Given the description of an element on the screen output the (x, y) to click on. 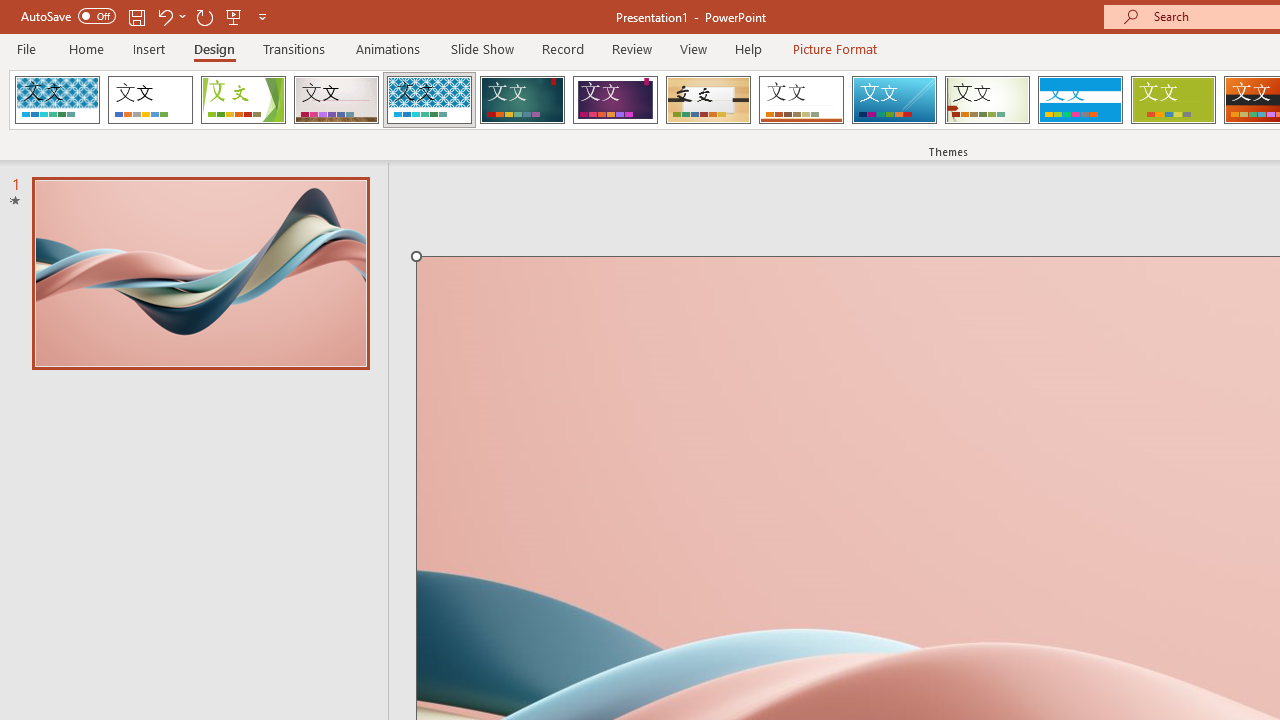
Wisp (987, 100)
Picture Format (834, 48)
Facet (243, 100)
